Given the description of an element on the screen output the (x, y) to click on. 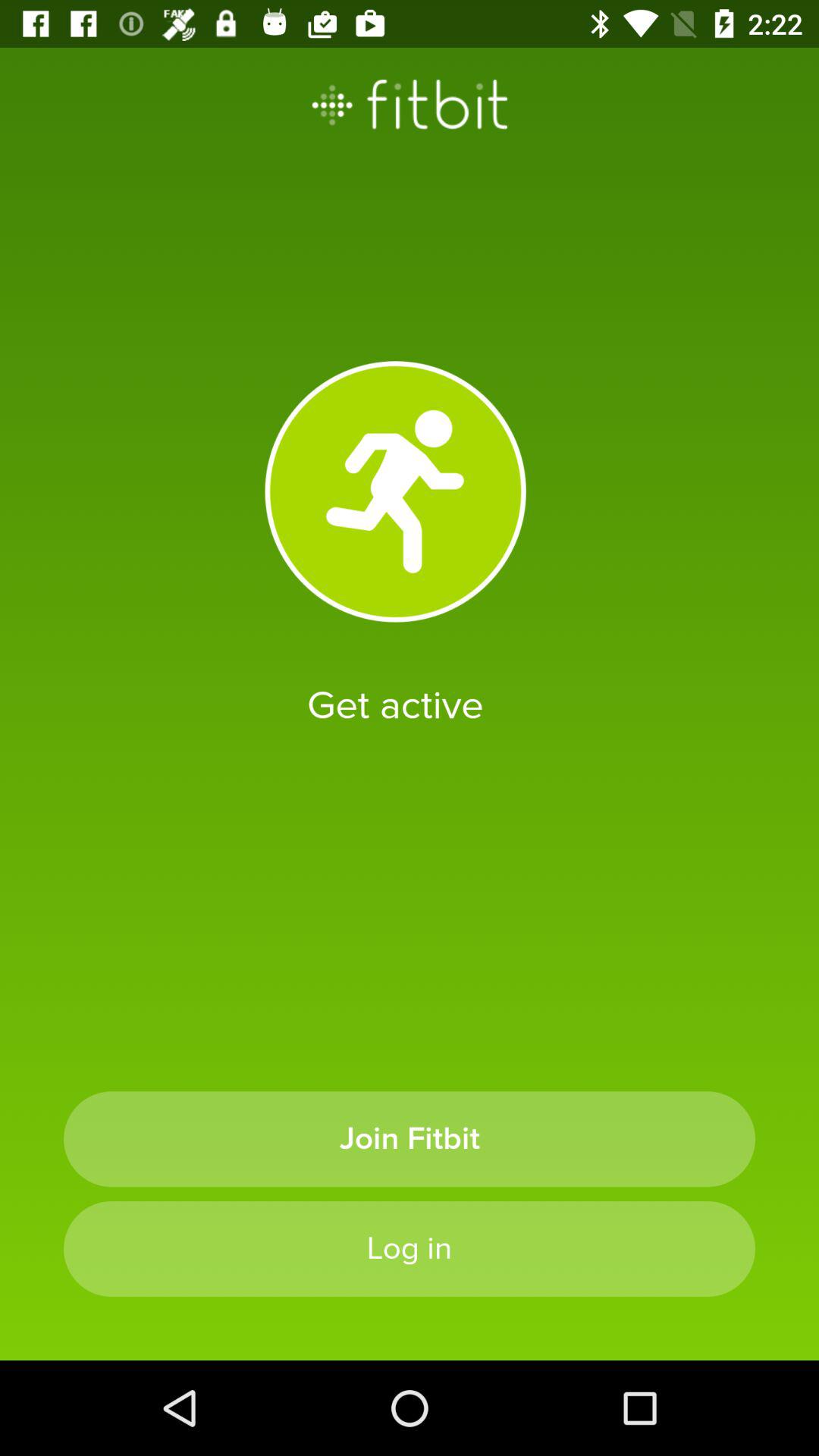
launch item above log in icon (409, 1138)
